Given the description of an element on the screen output the (x, y) to click on. 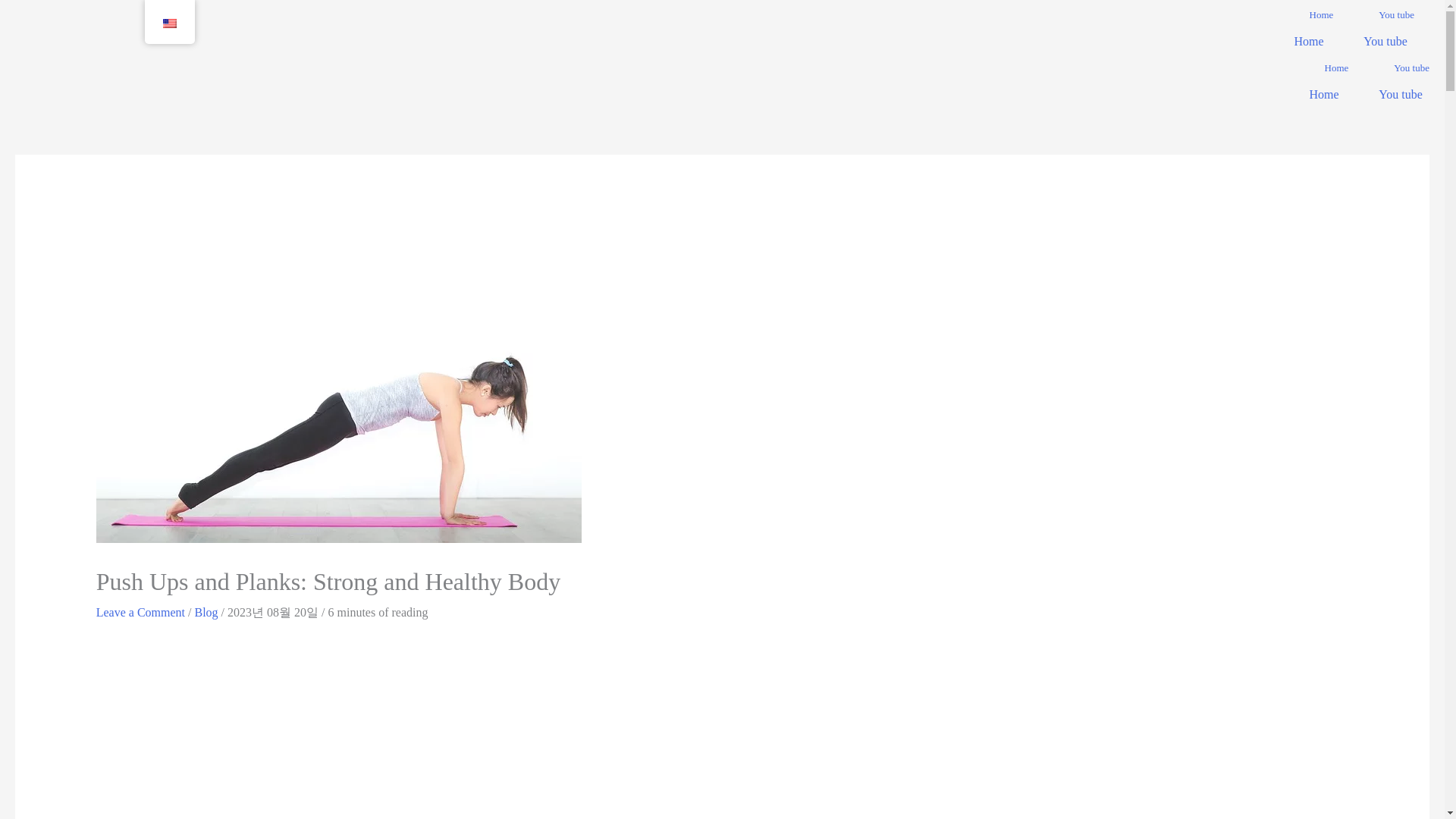
Blog (204, 612)
You tube (1400, 93)
Home (1308, 41)
Home (1335, 76)
You tube (1384, 41)
Home (1323, 93)
Home (1321, 23)
You tube (1395, 23)
Leave a Comment (140, 612)
